Given the description of an element on the screen output the (x, y) to click on. 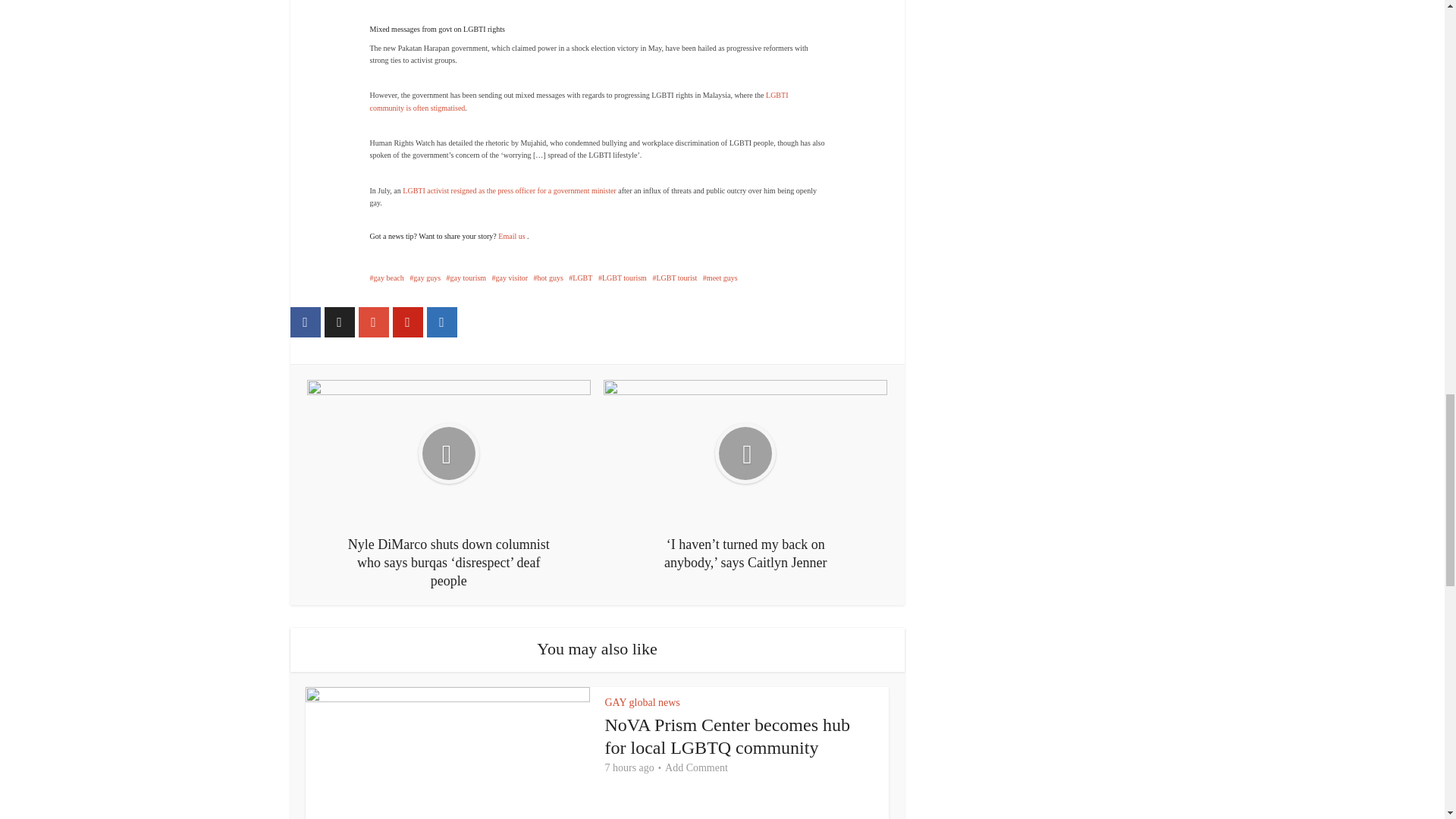
LGBT (580, 277)
gay beach (386, 277)
meet guys (720, 277)
LGBT tourist (674, 277)
gay guys (425, 277)
Email us (512, 235)
NoVA Prism Center becomes hub for local LGBTQ community (727, 735)
gay visitor (510, 277)
gay tourism (466, 277)
LGBTI community is often stigmatised (579, 100)
hot guys (548, 277)
LGBT tourism (622, 277)
